Given the description of an element on the screen output the (x, y) to click on. 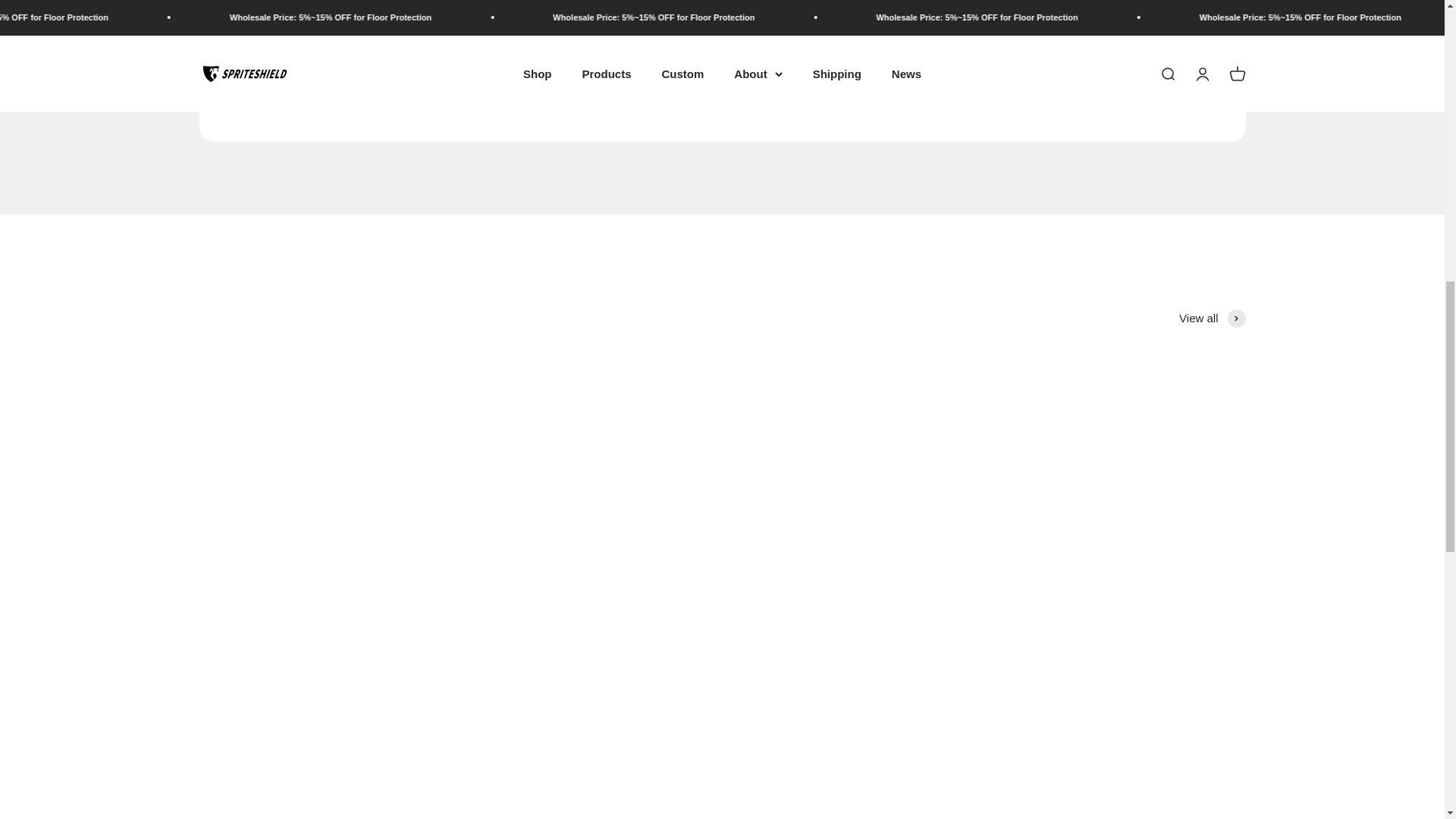
View all (1211, 318)
